Given the description of an element on the screen output the (x, y) to click on. 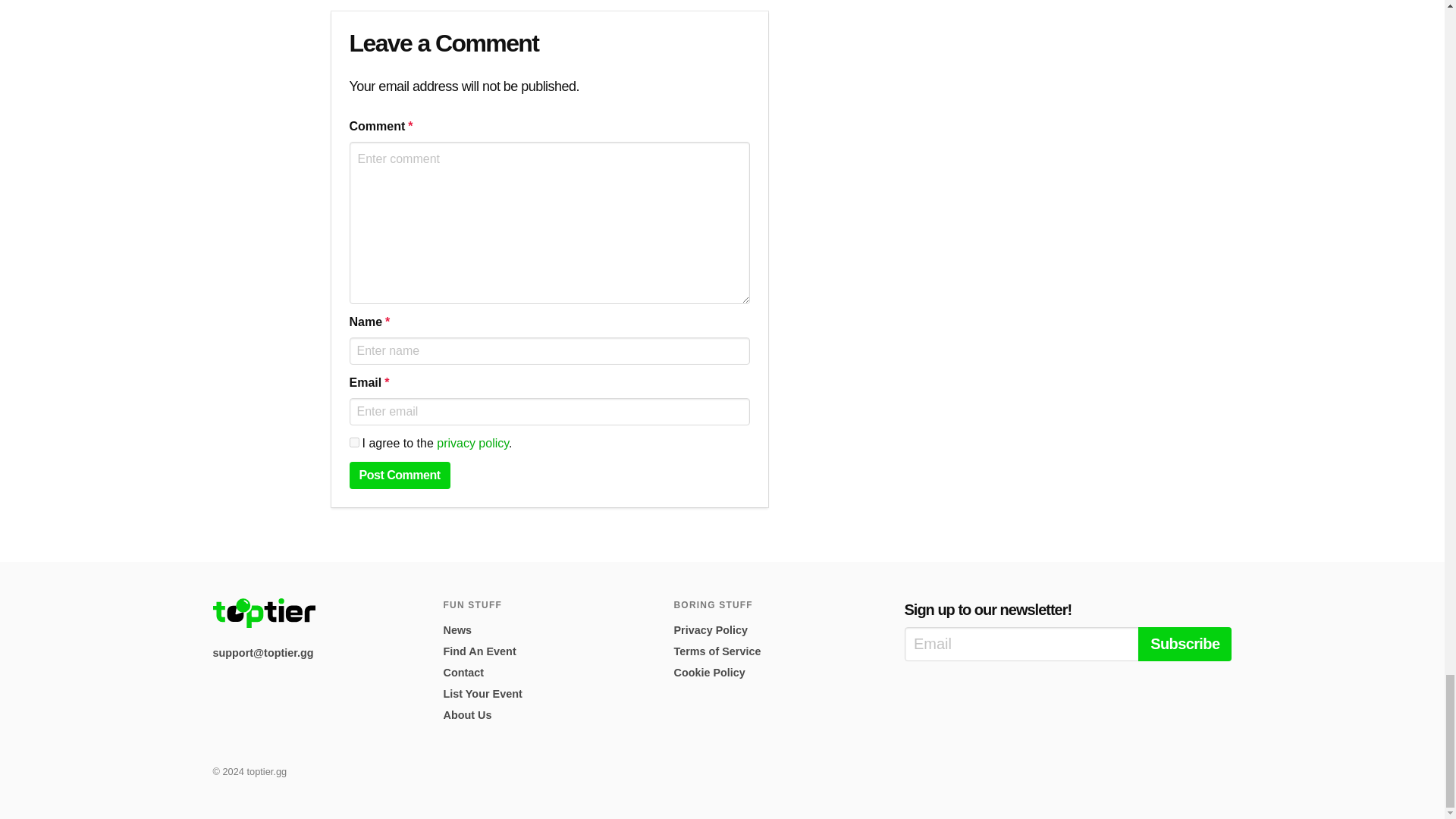
yes (353, 442)
Post Comment (399, 474)
Subscribe (1184, 643)
